Given the description of an element on the screen output the (x, y) to click on. 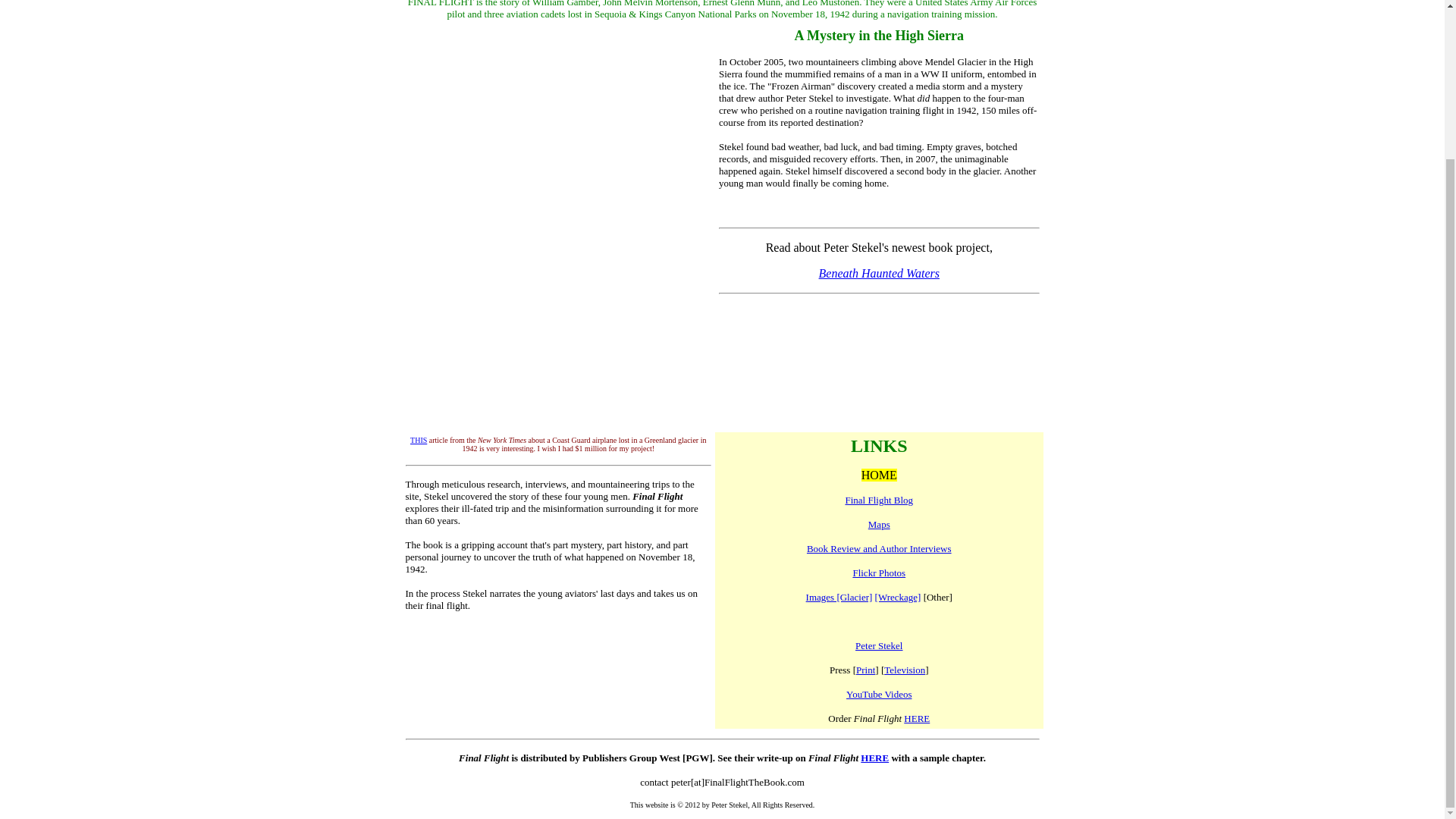
Final Flight Blog (878, 500)
Print (865, 669)
Maps (878, 523)
Flickr Photos (878, 572)
YouTube Videos (878, 694)
Peter Stekel (879, 645)
THIS (418, 439)
Book Review and Author Interviews (879, 548)
HERE (917, 717)
HERE (874, 757)
